Given the description of an element on the screen output the (x, y) to click on. 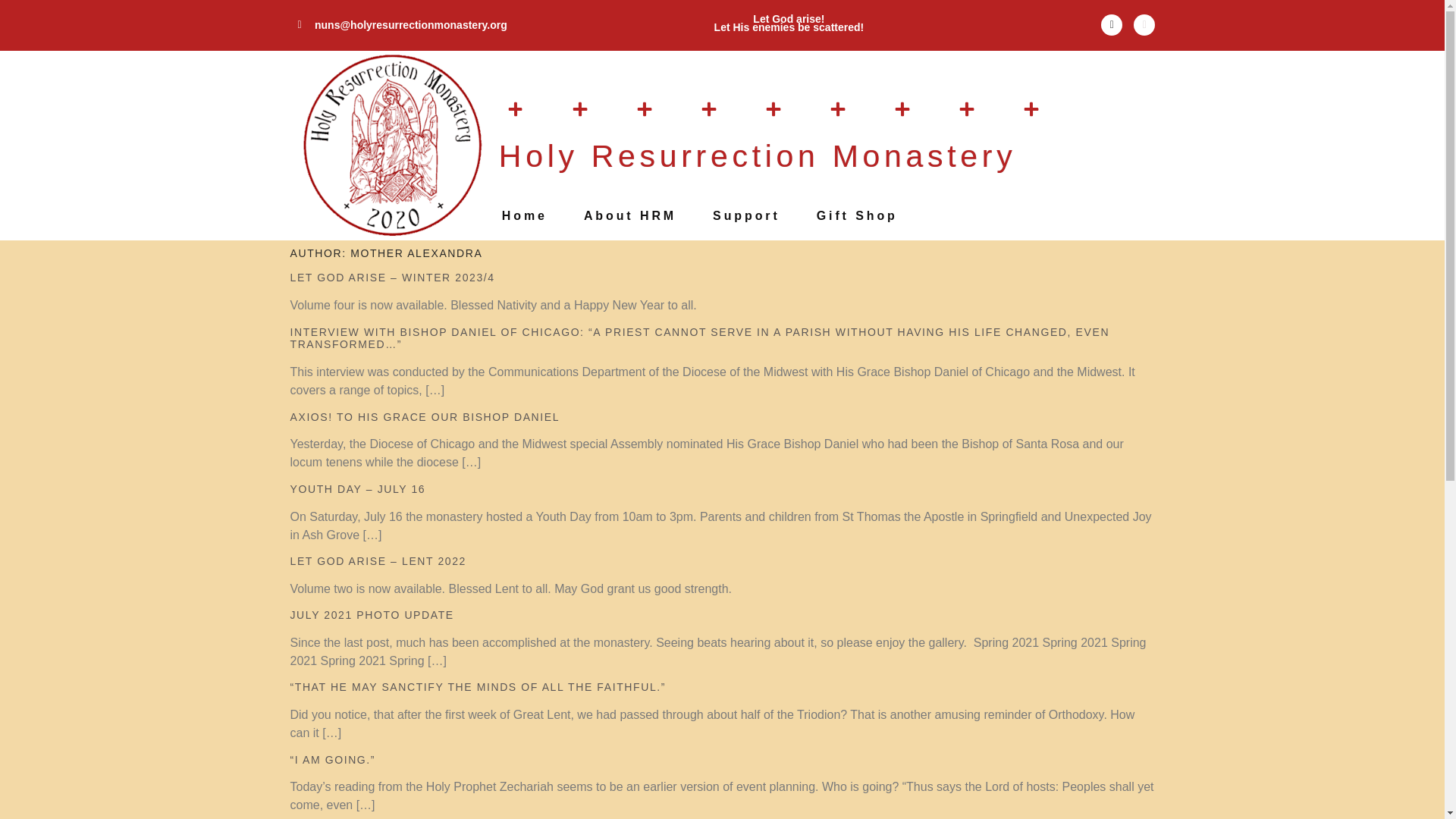
Support (746, 216)
JULY 2021 PHOTO UPDATE (370, 614)
Home (524, 216)
Holy Resurrection Monastery (757, 155)
AXIOS! TO HIS GRACE OUR BISHOP DANIEL (424, 417)
About HRM (630, 216)
Gift Shop (857, 216)
